Given the description of an element on the screen output the (x, y) to click on. 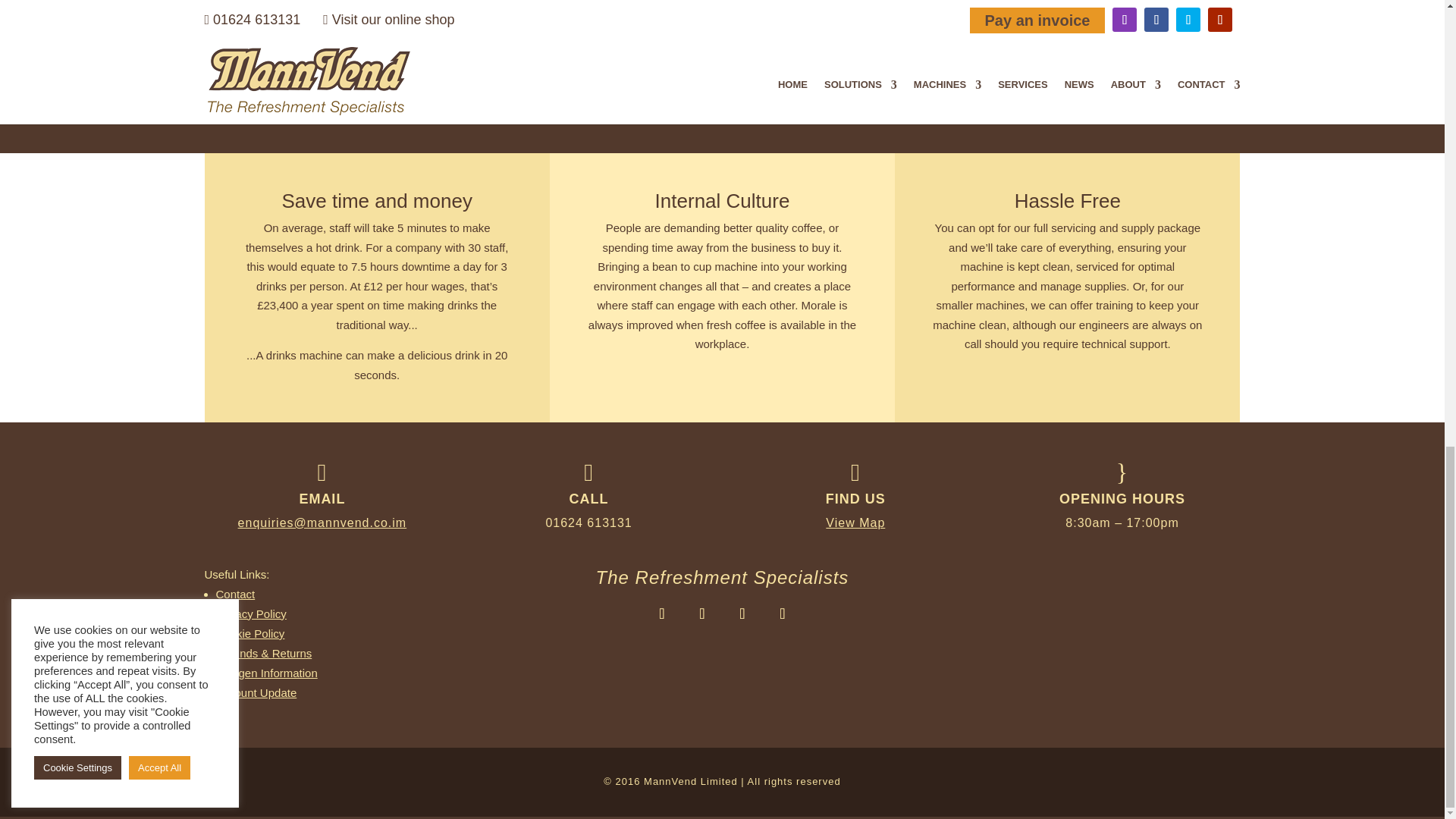
Follow on Twitter (741, 613)
Follow on Facebook (701, 613)
Follow on Instagram (661, 613)
